Given the description of an element on the screen output the (x, y) to click on. 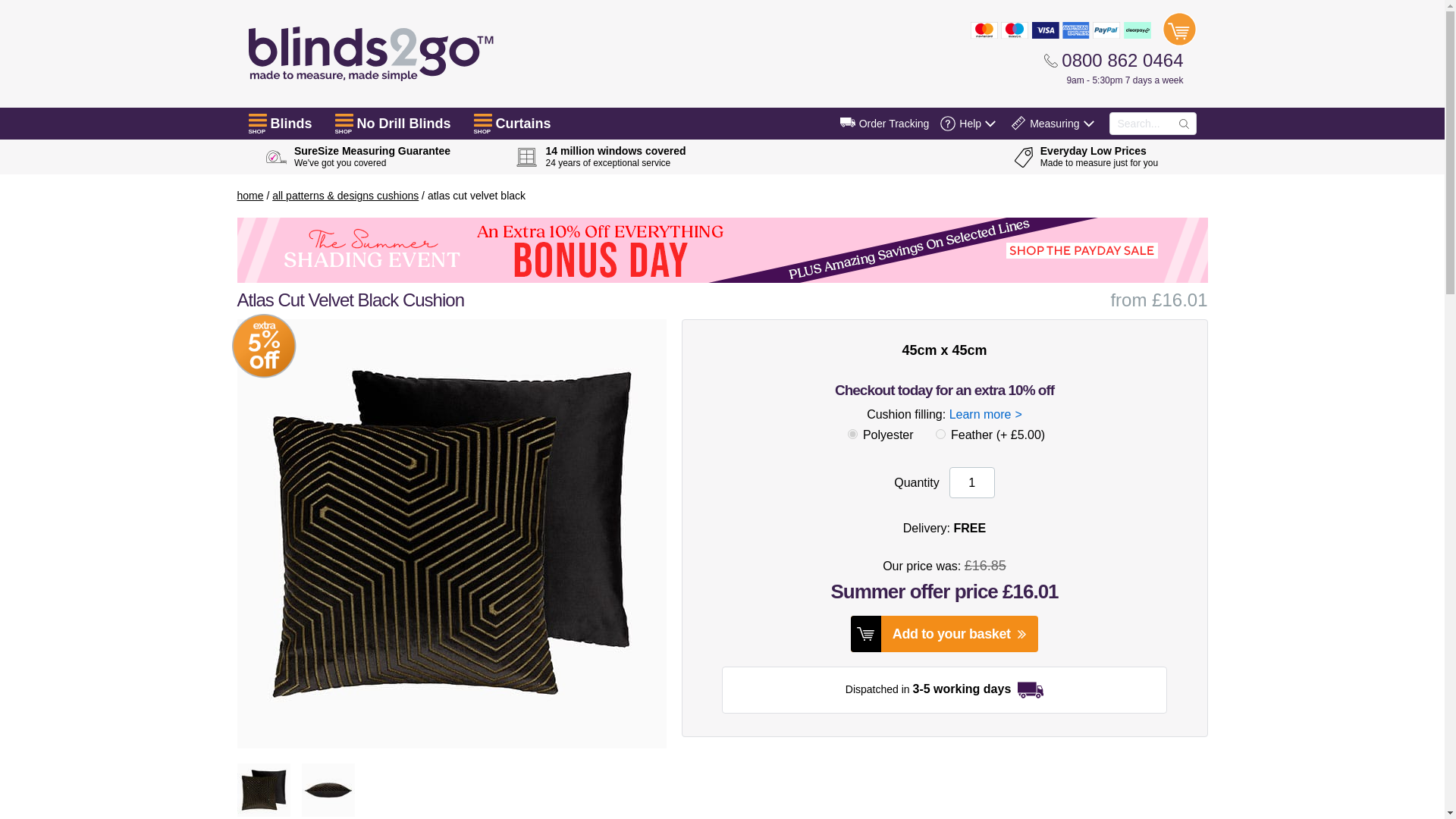
burger icon (483, 119)
burger icon (257, 119)
1 (971, 481)
654 (852, 433)
white down arrow icon (990, 122)
burger icon (343, 119)
655 (940, 433)
0800 862 0464 (1112, 60)
Customer reviews powered by Trustpilot (842, 156)
delivery icon (848, 121)
